Given the description of an element on the screen output the (x, y) to click on. 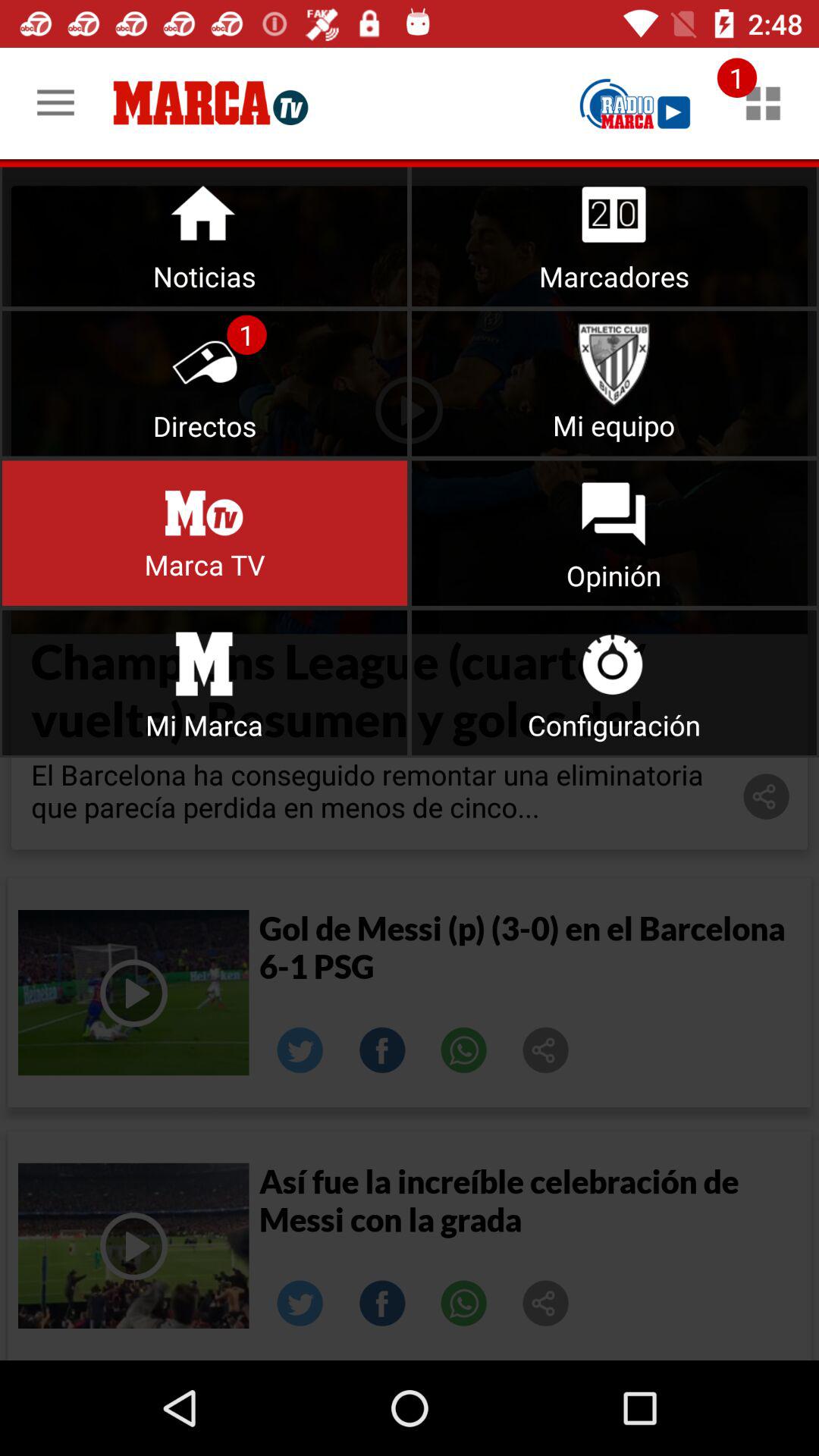
play (635, 103)
